Given the description of an element on the screen output the (x, y) to click on. 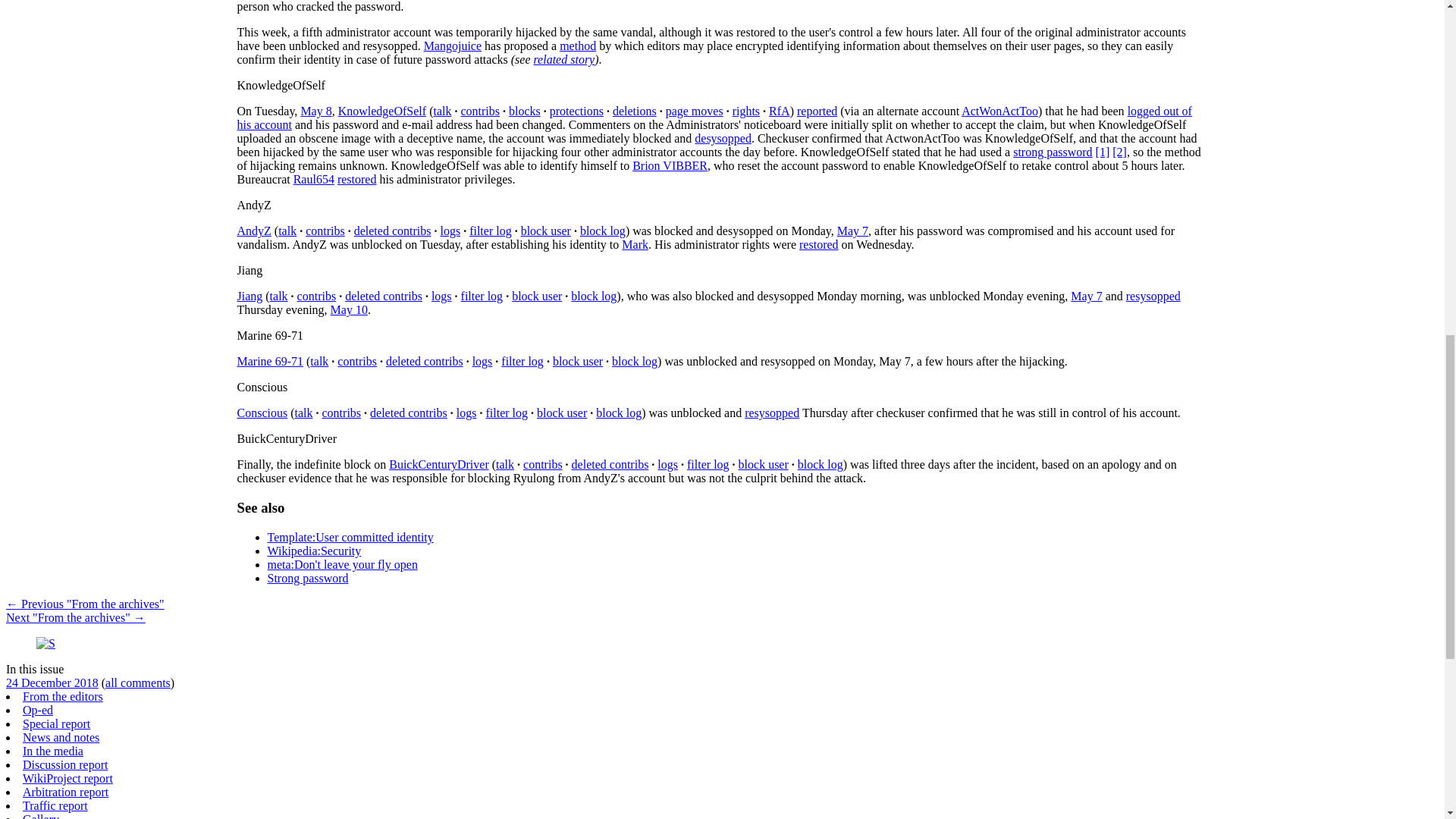
talk (441, 110)
Mangojuice (452, 45)
Template:User committed identity (577, 45)
User:Mangojuice (452, 45)
May 8 (315, 110)
related story (563, 59)
KnowledgeOfSelf (381, 110)
contribs (479, 110)
blocks (524, 110)
method (577, 45)
